Given the description of an element on the screen output the (x, y) to click on. 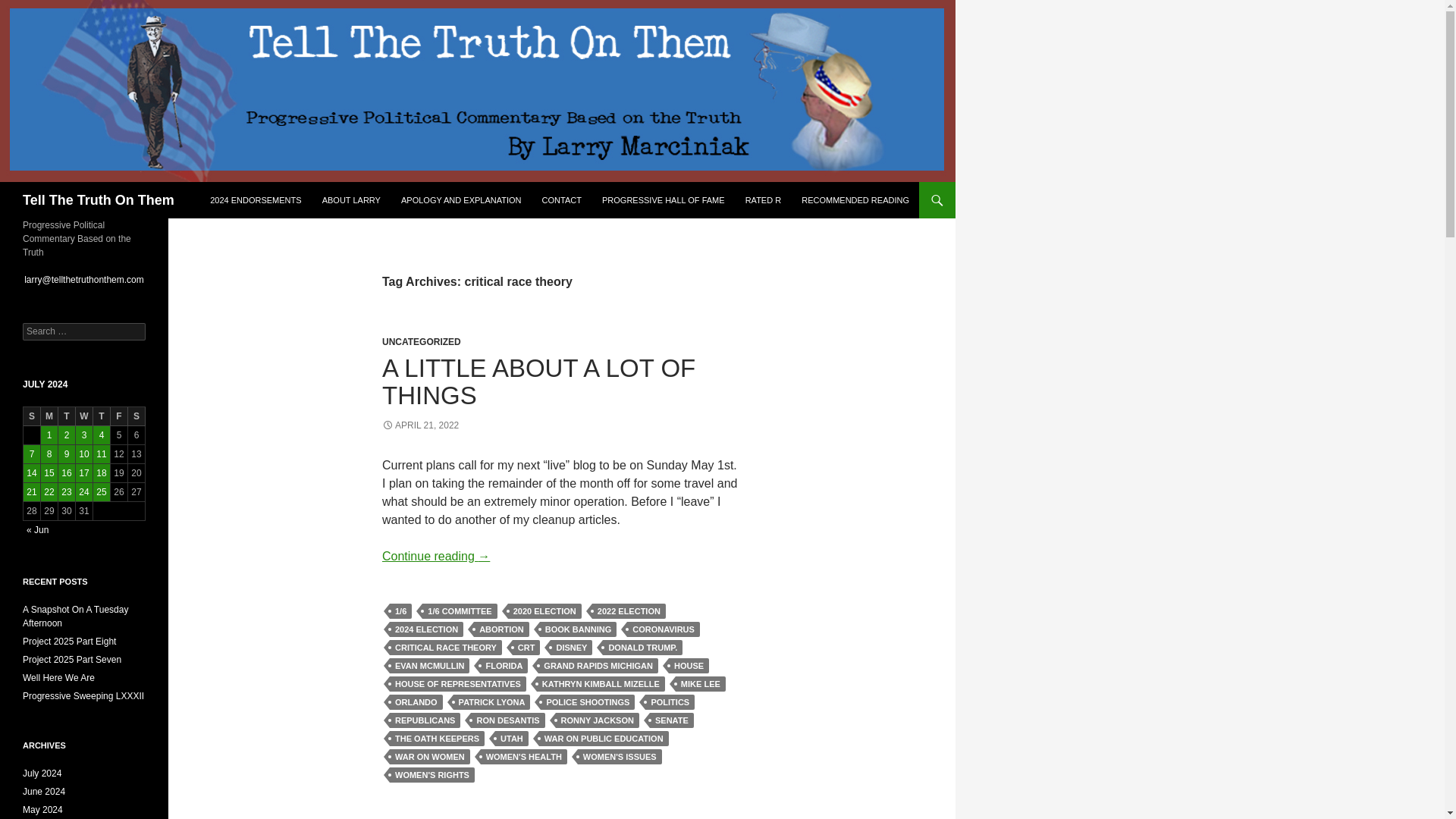
UNCATEGORIZED (421, 341)
RATED R (763, 199)
DONALD TRUMP. (642, 647)
2024 ELECTION (426, 629)
2022 ELECTION (628, 611)
BOOK BANNING (577, 629)
CRT (526, 647)
KATHRYN KIMBALL MIZELLE (601, 683)
PROGRESSIVE HALL OF FAME (662, 199)
Saturday (136, 416)
2020 ELECTION (544, 611)
Tuesday (66, 416)
Wednesday (84, 416)
Thursday (101, 416)
